Given the description of an element on the screen output the (x, y) to click on. 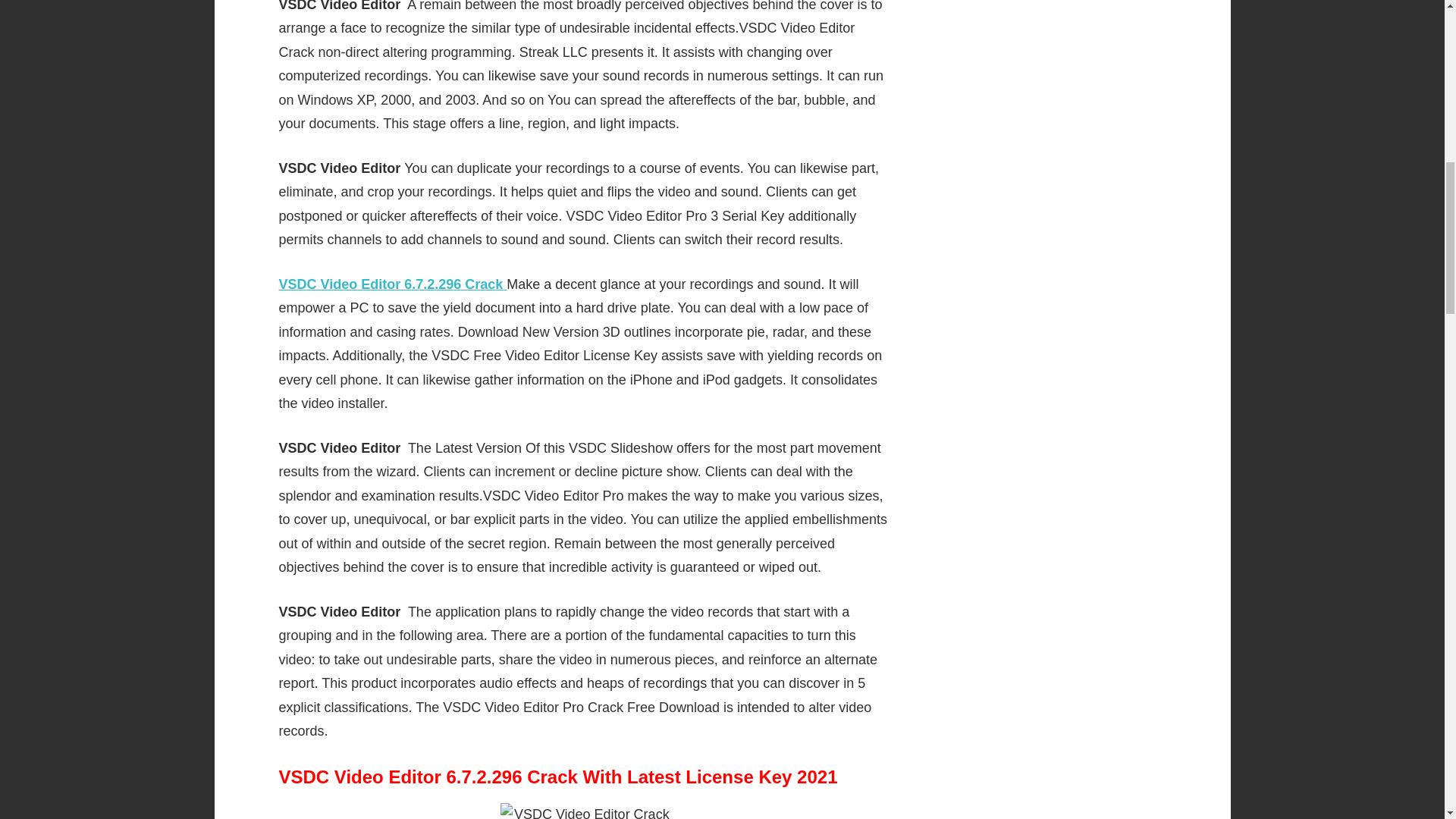
VSDC Video Editor 6.7.2.296 Crack (392, 283)
